Given the description of an element on the screen output the (x, y) to click on. 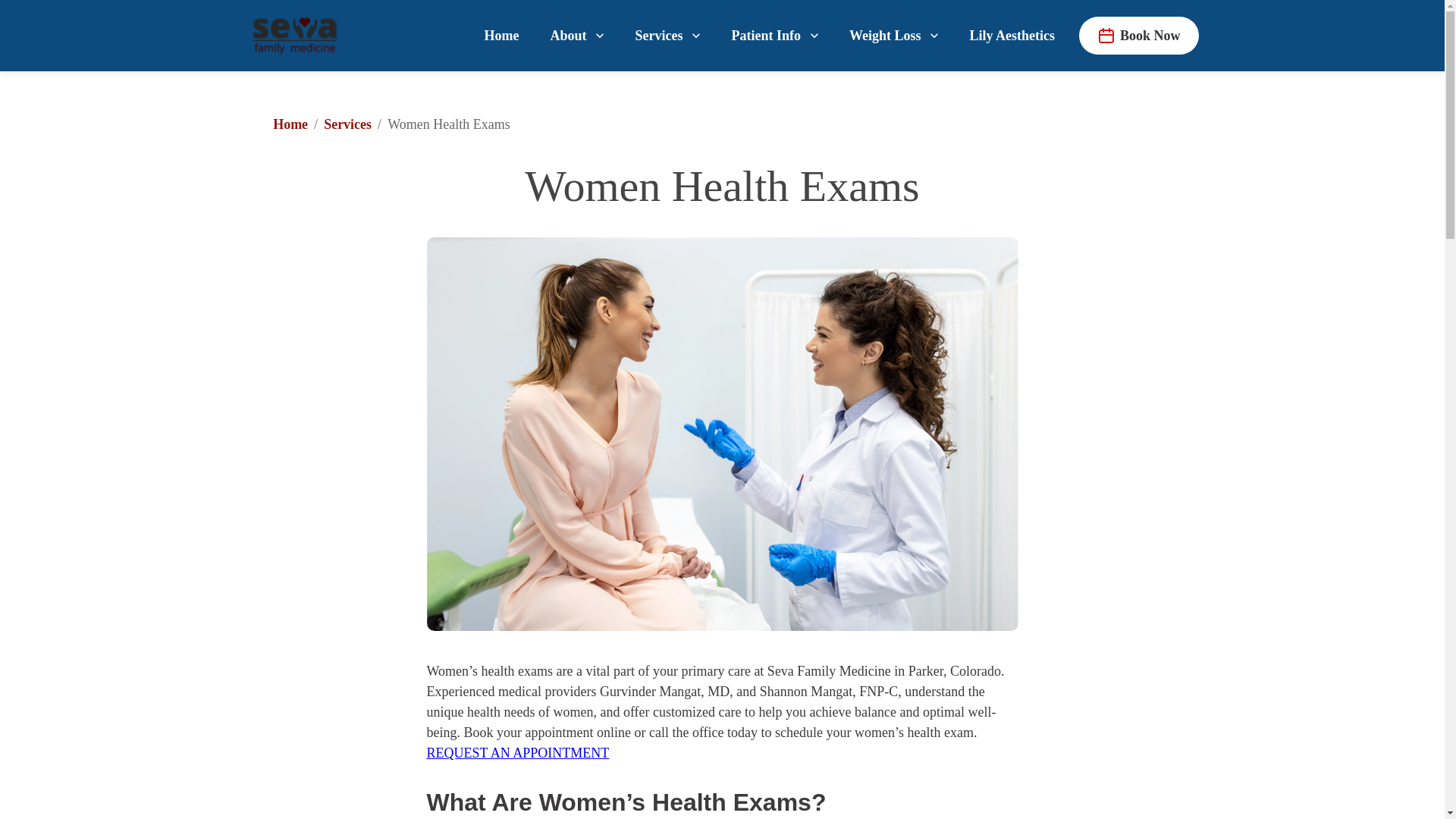
REQUEST AN APPOINTMENT (517, 752)
Services (347, 124)
Weight Loss (893, 35)
About (576, 35)
Lily Aesthetics (1011, 35)
Book Now (1138, 35)
Home (501, 35)
Home (290, 124)
Patient Info (775, 35)
Services (667, 35)
